Given the description of an element on the screen output the (x, y) to click on. 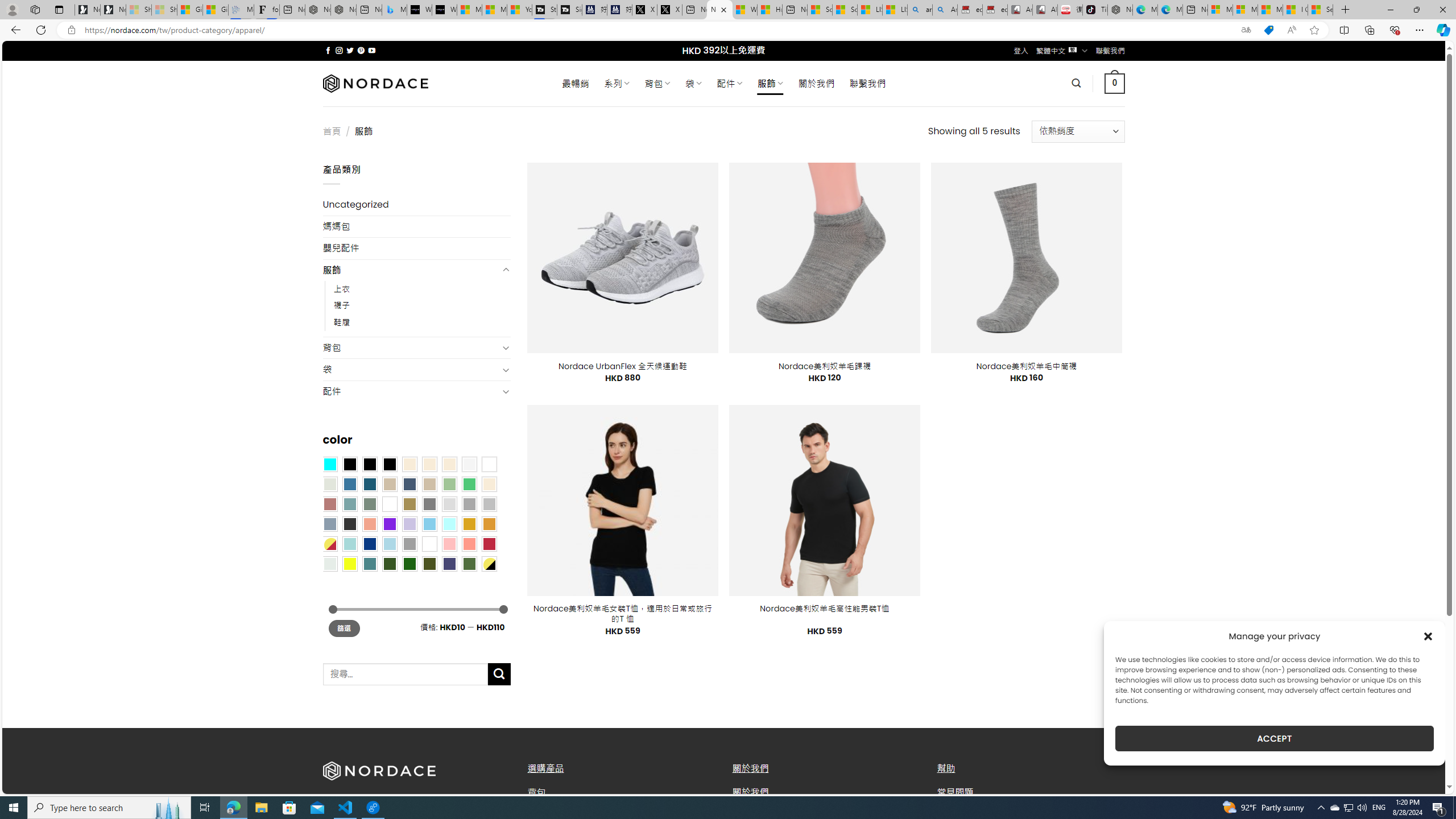
Address and search bar (658, 29)
Go to top (1421, 777)
ACCEPT (1274, 738)
What's the best AI voice generator? - voice.ai (443, 9)
Cream (449, 464)
All Cubot phones (1044, 9)
